Given the description of an element on the screen output the (x, y) to click on. 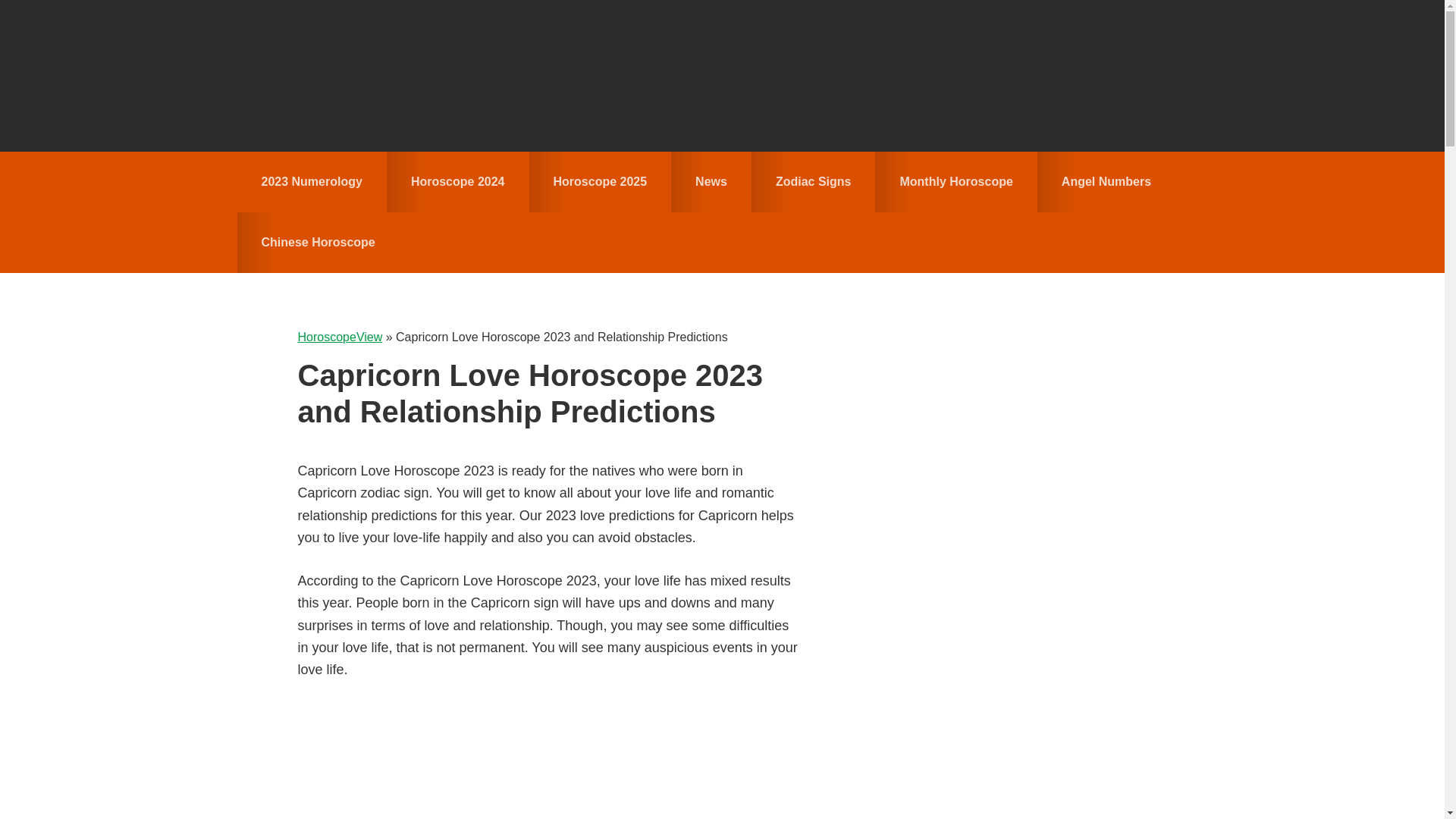
HoroscopeView (722, 75)
HoroscopeView (339, 336)
Zodiac Signs (813, 181)
2023 Numerology (310, 181)
News (711, 181)
Chinese Horoscope (316, 242)
Angel Numbers (1105, 181)
Horoscope 2024 (458, 181)
Monthly Horoscope (955, 181)
Horoscope 2025 (600, 181)
